Given the description of an element on the screen output the (x, y) to click on. 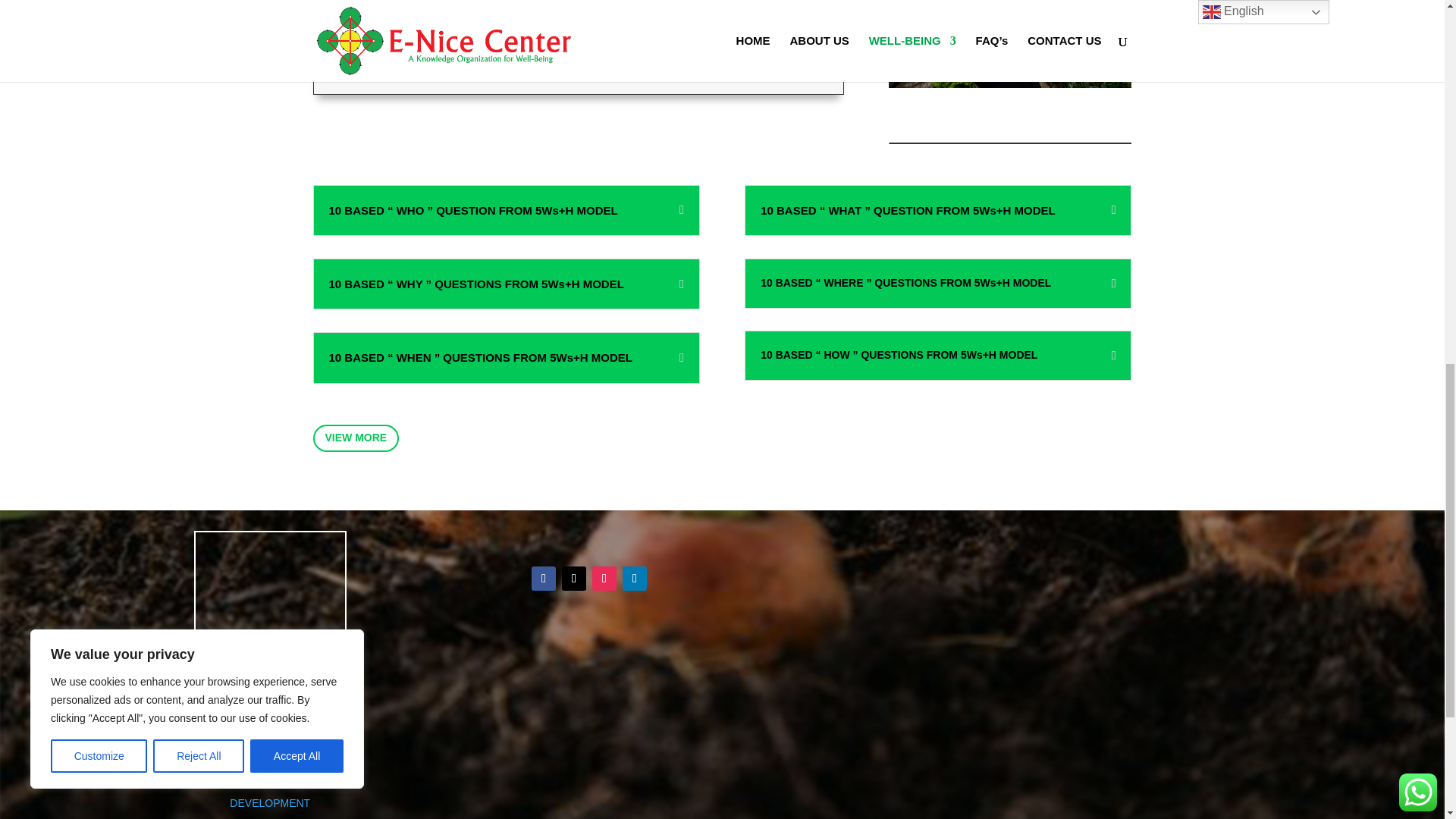
Follow on LinkedIn (634, 578)
NUTRITIONAL (269, 748)
ABOUT US (270, 729)
VIEW MORE (355, 438)
Follow on Facebook (543, 578)
Follow on Instagram (603, 578)
Follow on X (574, 578)
DEVELOPMENT (270, 802)
DIGITAL (269, 784)
RELATIONAL (269, 766)
